Given the description of an element on the screen output the (x, y) to click on. 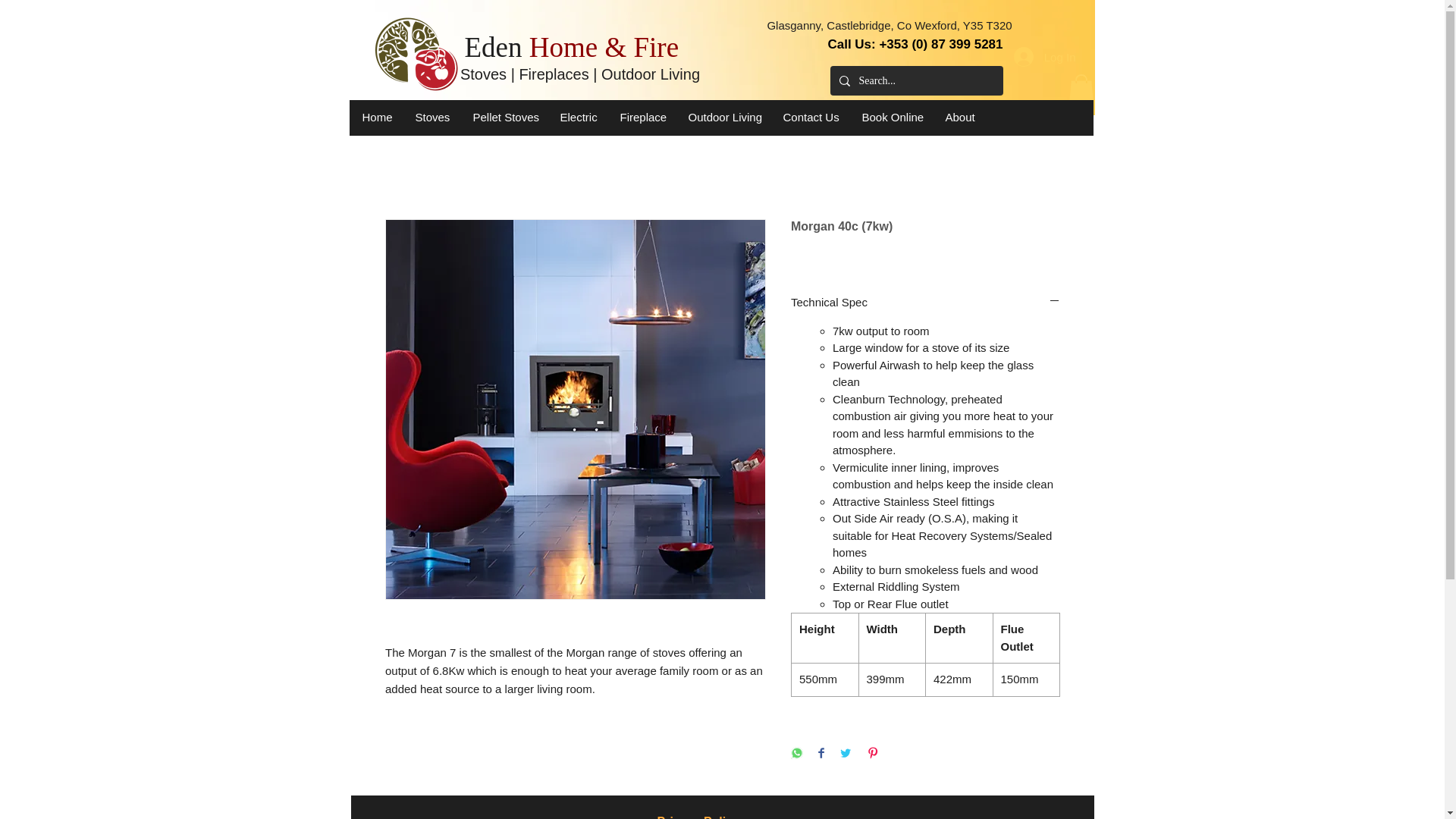
Log In (1044, 56)
Book Online (892, 117)
Fireplace (642, 117)
Electric (578, 117)
Contact Us (810, 117)
About (959, 117)
Pellet Stoves (504, 117)
Outdoor Living (724, 117)
Home (376, 117)
Stoves (432, 117)
